Given the description of an element on the screen output the (x, y) to click on. 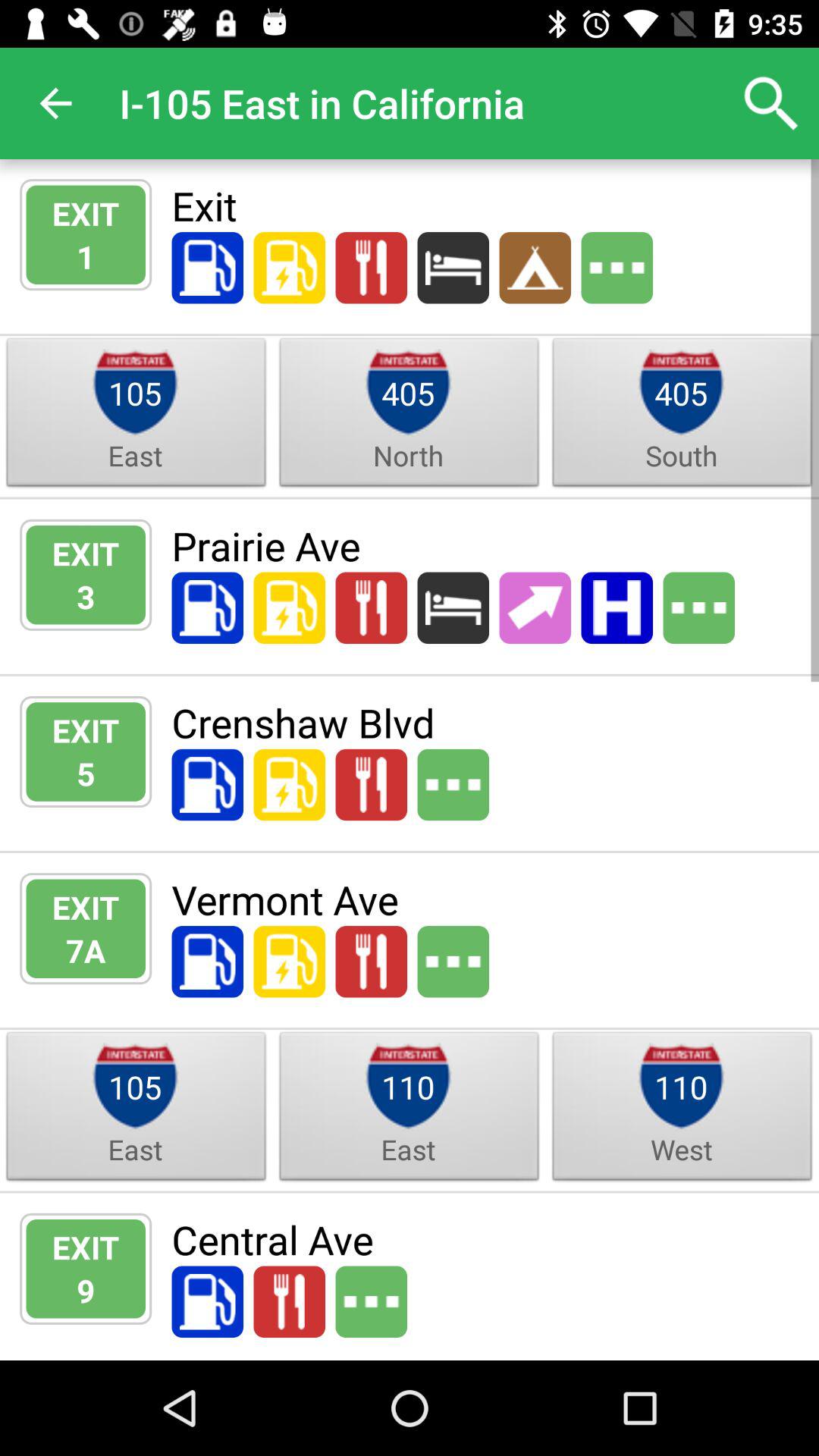
press icon next to i 105 east app (771, 103)
